Given the description of an element on the screen output the (x, y) to click on. 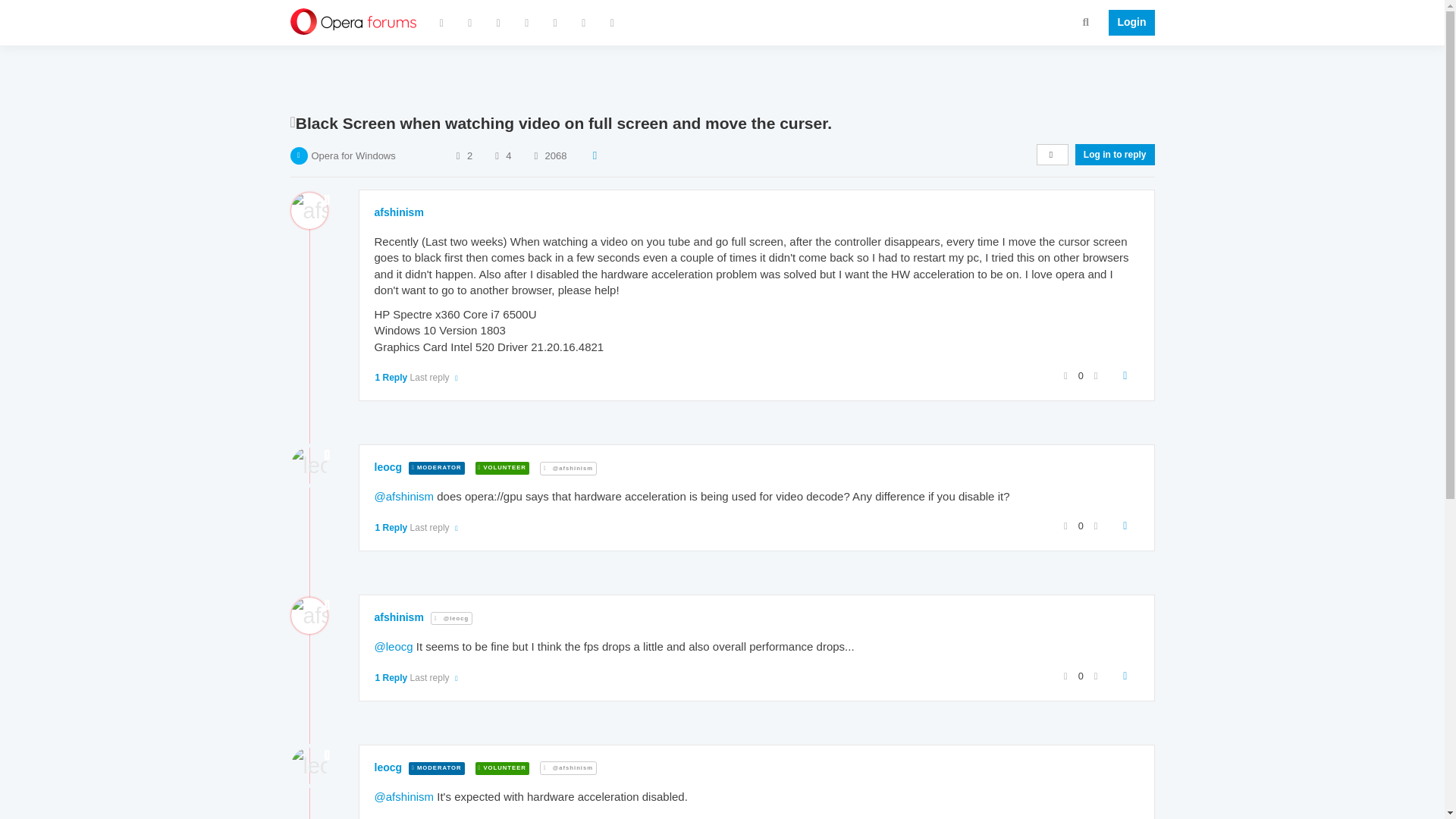
Login (1127, 22)
1 Reply Last reply (416, 377)
afshinism (398, 212)
Views (535, 155)
Log in to reply (1114, 154)
Posters (457, 155)
Search (1085, 21)
Opera for Windows (352, 155)
Posts (496, 155)
